Given the description of an element on the screen output the (x, y) to click on. 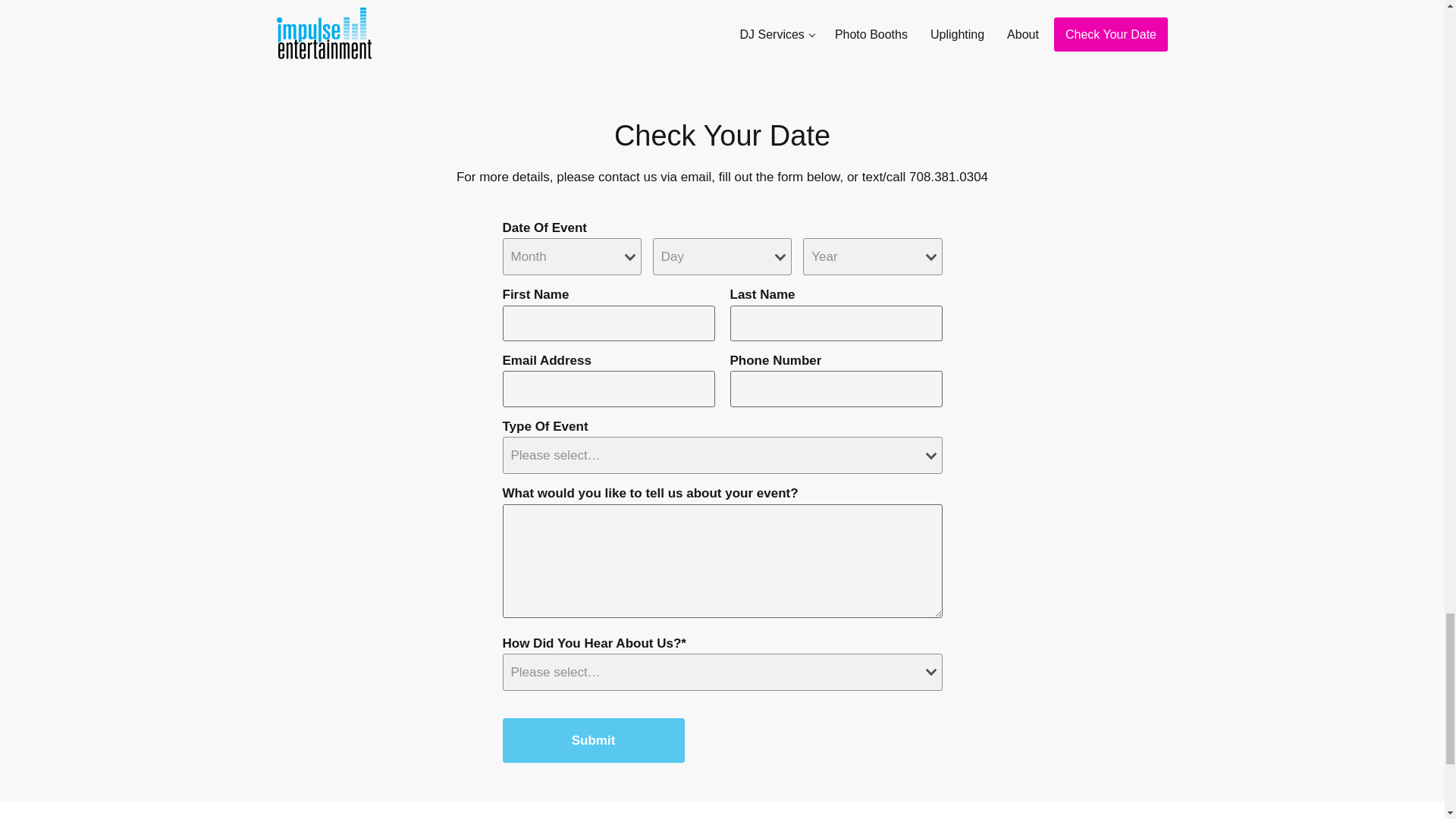
Submit (593, 740)
Submit (593, 740)
